Given the description of an element on the screen output the (x, y) to click on. 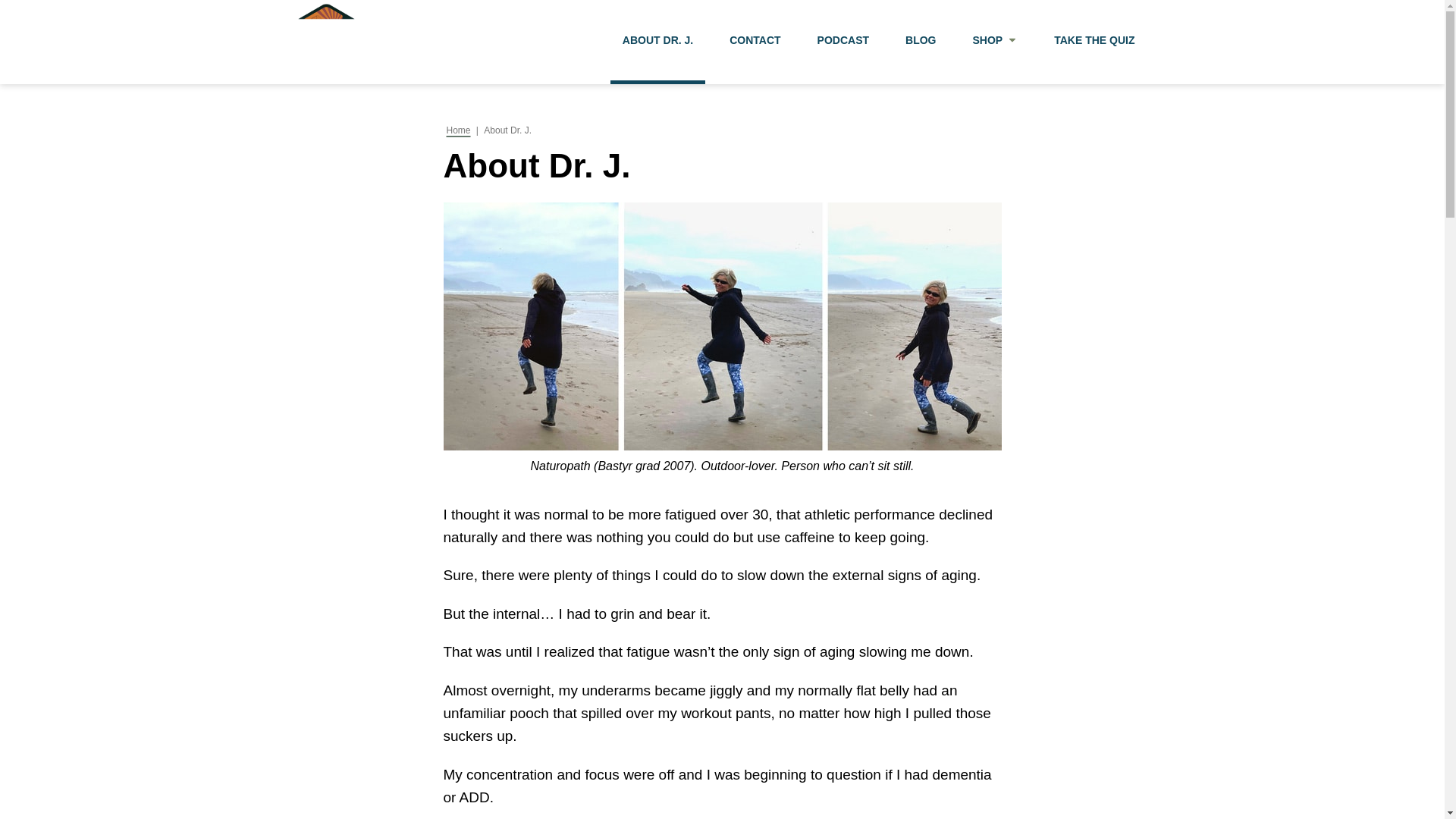
TAKE THE QUIZ (1094, 42)
PODCAST (842, 42)
CONTACT (754, 42)
Dr. Jannine Krause (325, 42)
Home (457, 130)
ABOUT DR. J. (657, 42)
